Given the description of an element on the screen output the (x, y) to click on. 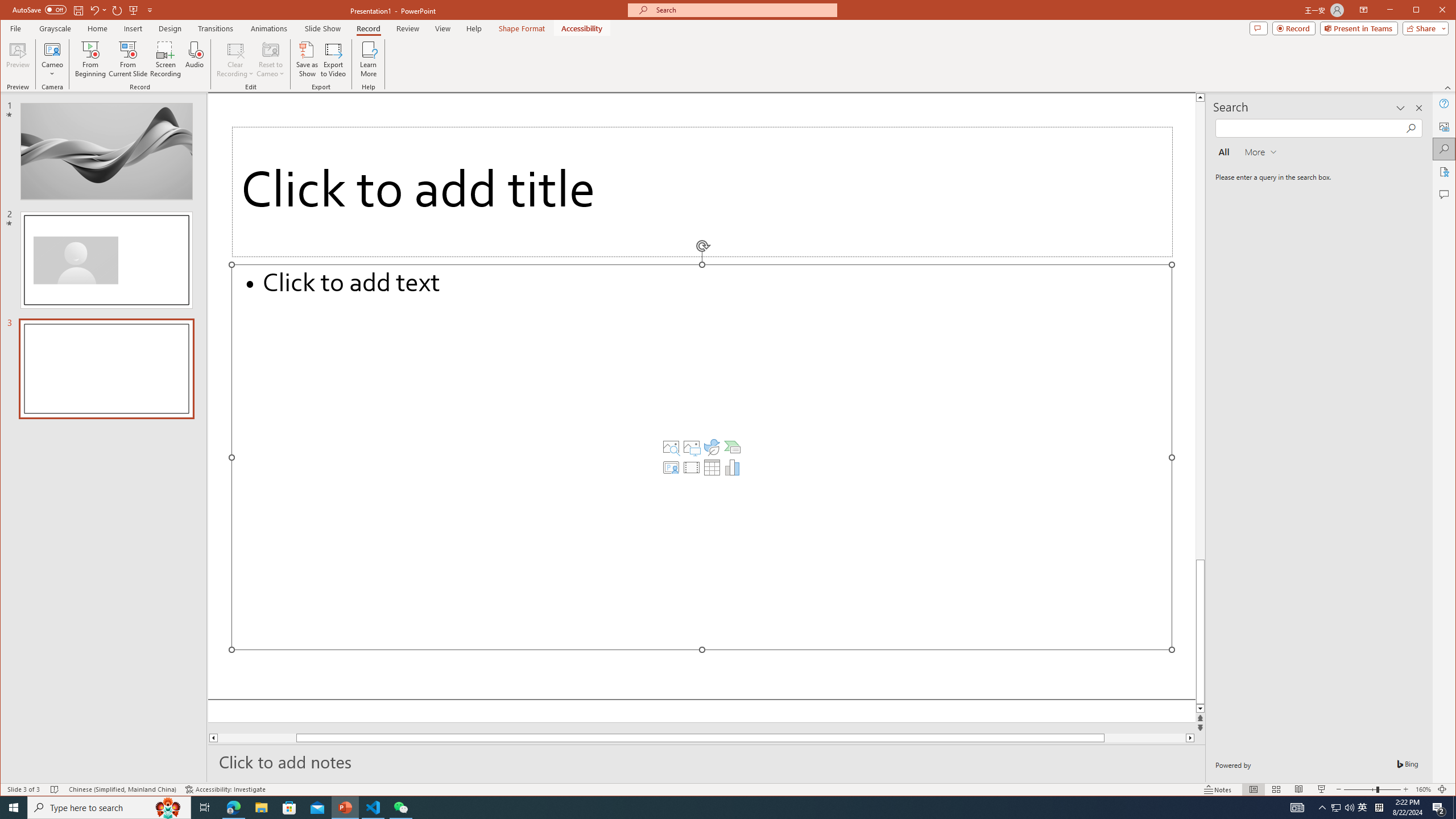
Learn More (368, 59)
Insert Table (711, 467)
